Given the description of an element on the screen output the (x, y) to click on. 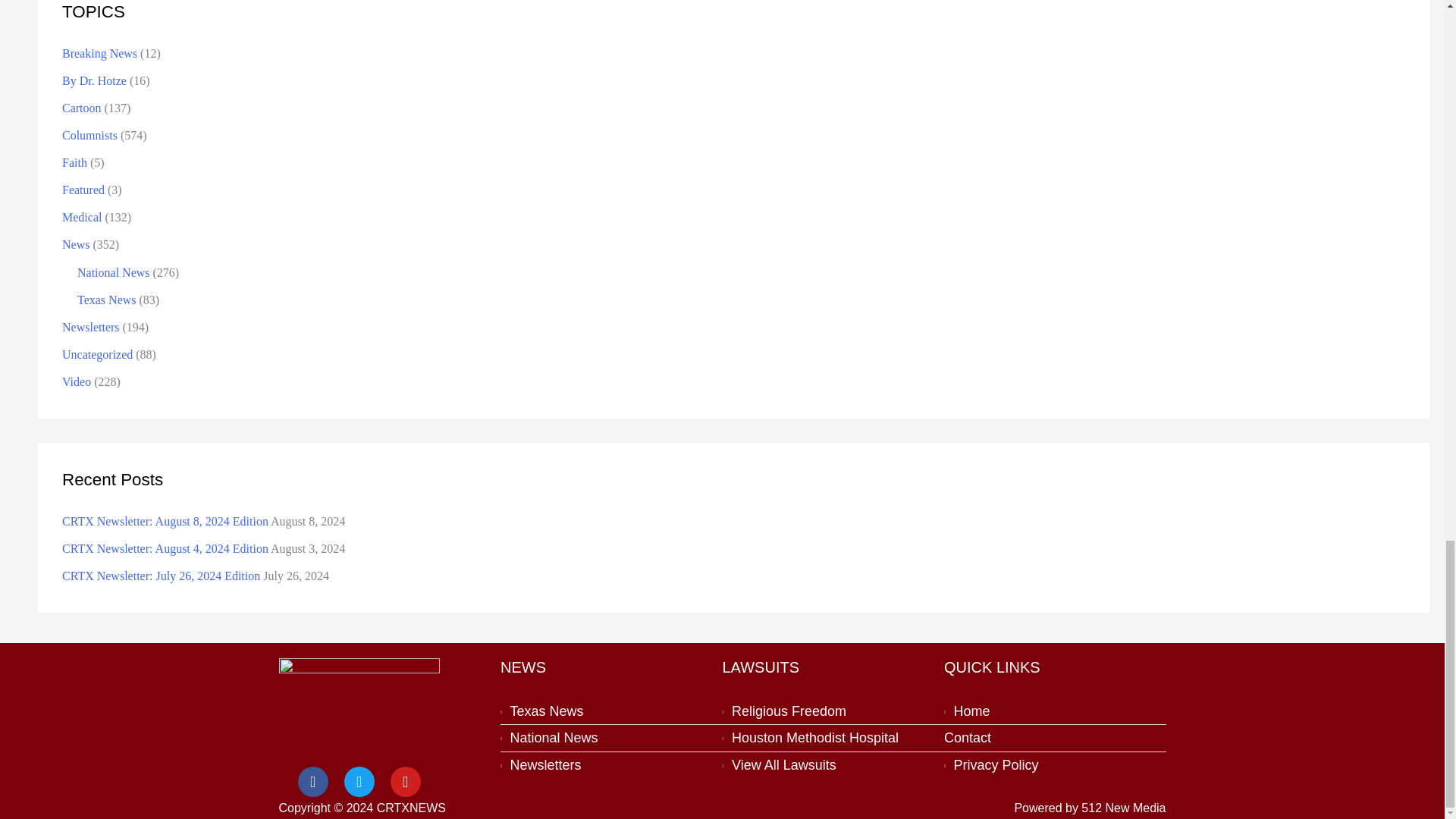
Uncategorized (97, 354)
Featured (83, 189)
Columnists (89, 134)
Texas News (106, 299)
Faith (74, 162)
Cartoon (81, 107)
Medical (81, 216)
By Dr. Hotze (94, 80)
National News (113, 272)
Newsletters (90, 327)
